Given the description of an element on the screen output the (x, y) to click on. 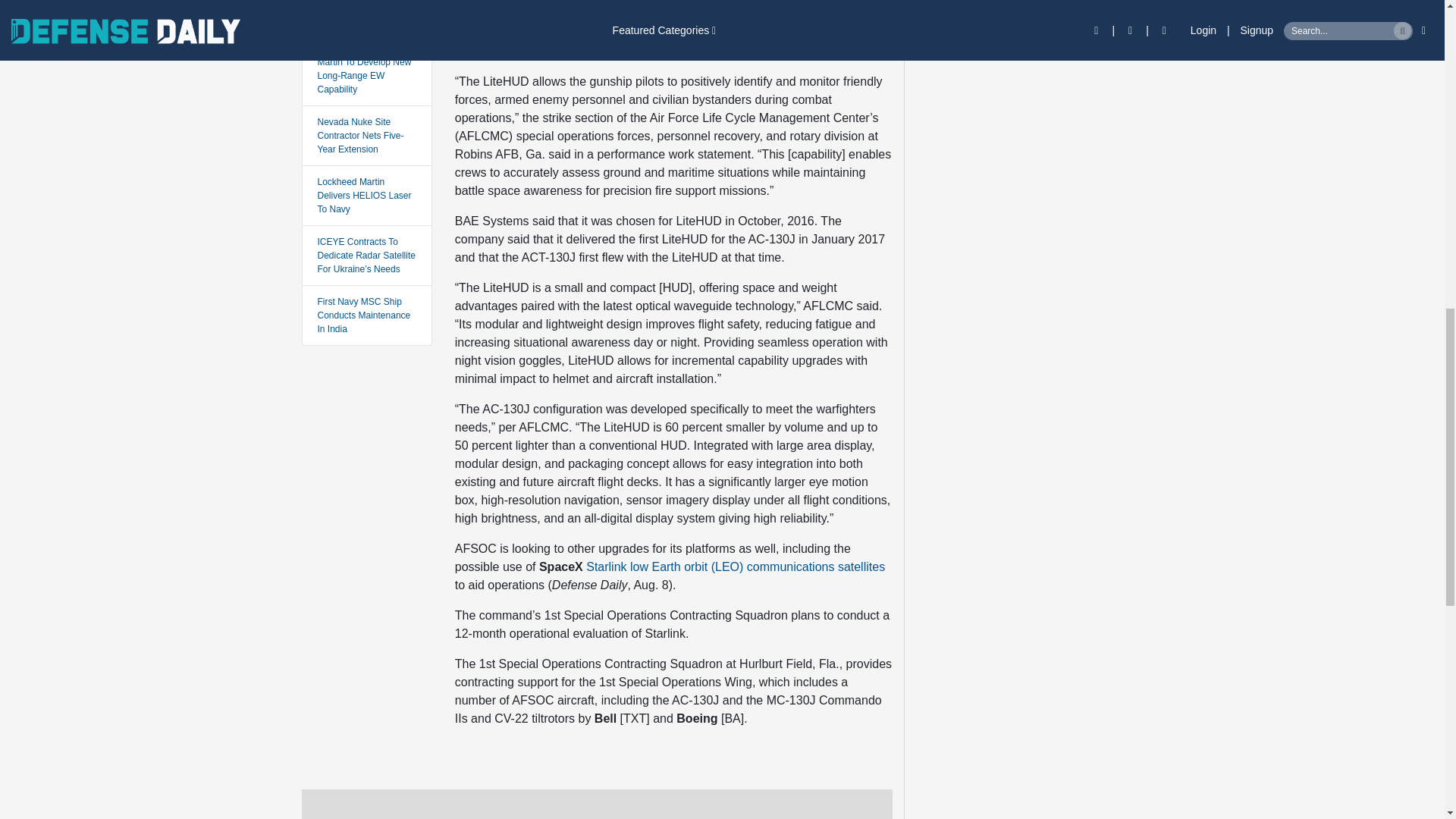
Nevada Nuke Site Contractor Nets Five-Year Extension (360, 135)
